Given the description of an element on the screen output the (x, y) to click on. 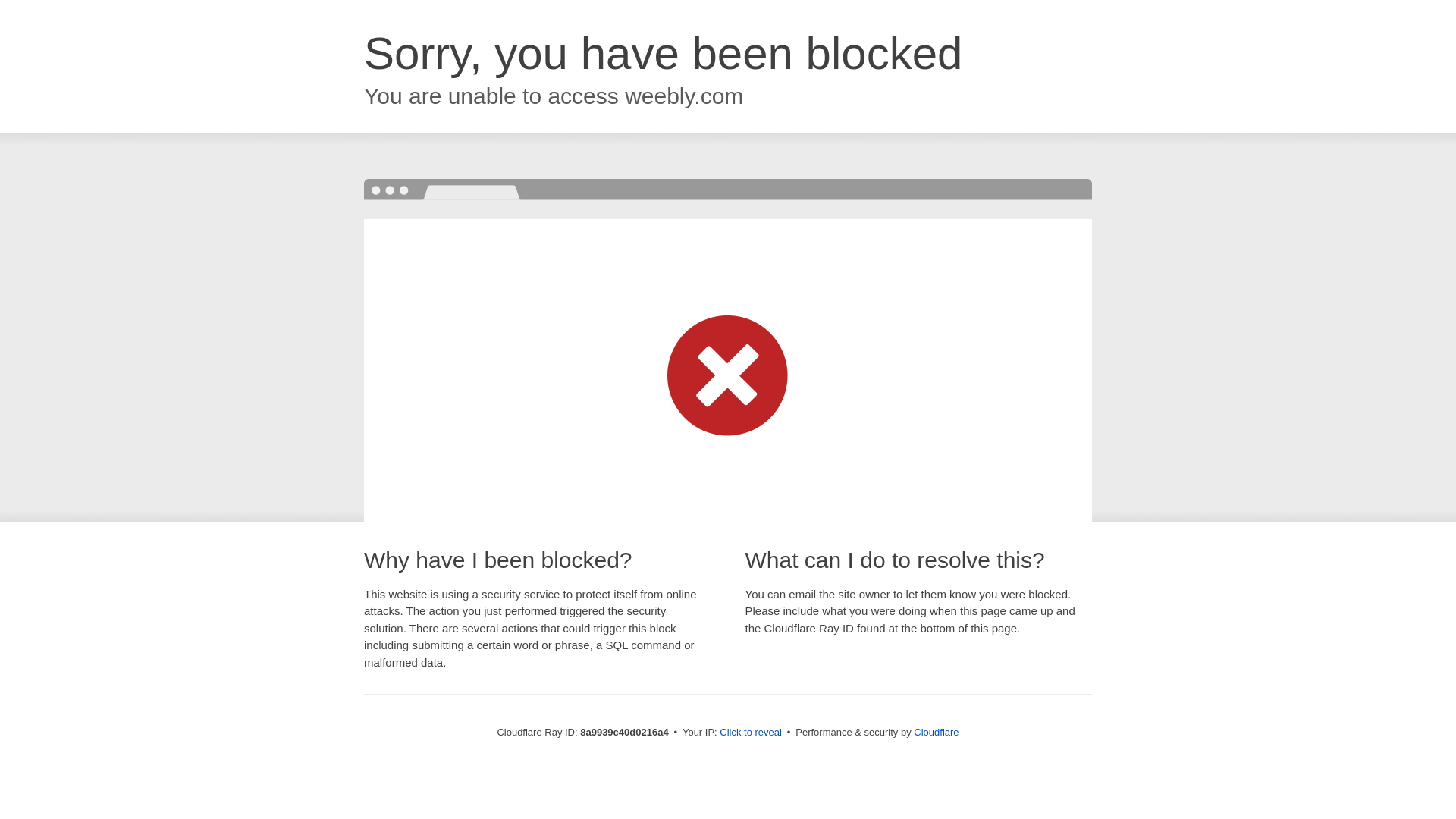
Cloudflare (936, 731)
Click to reveal (750, 732)
